Given the description of an element on the screen output the (x, y) to click on. 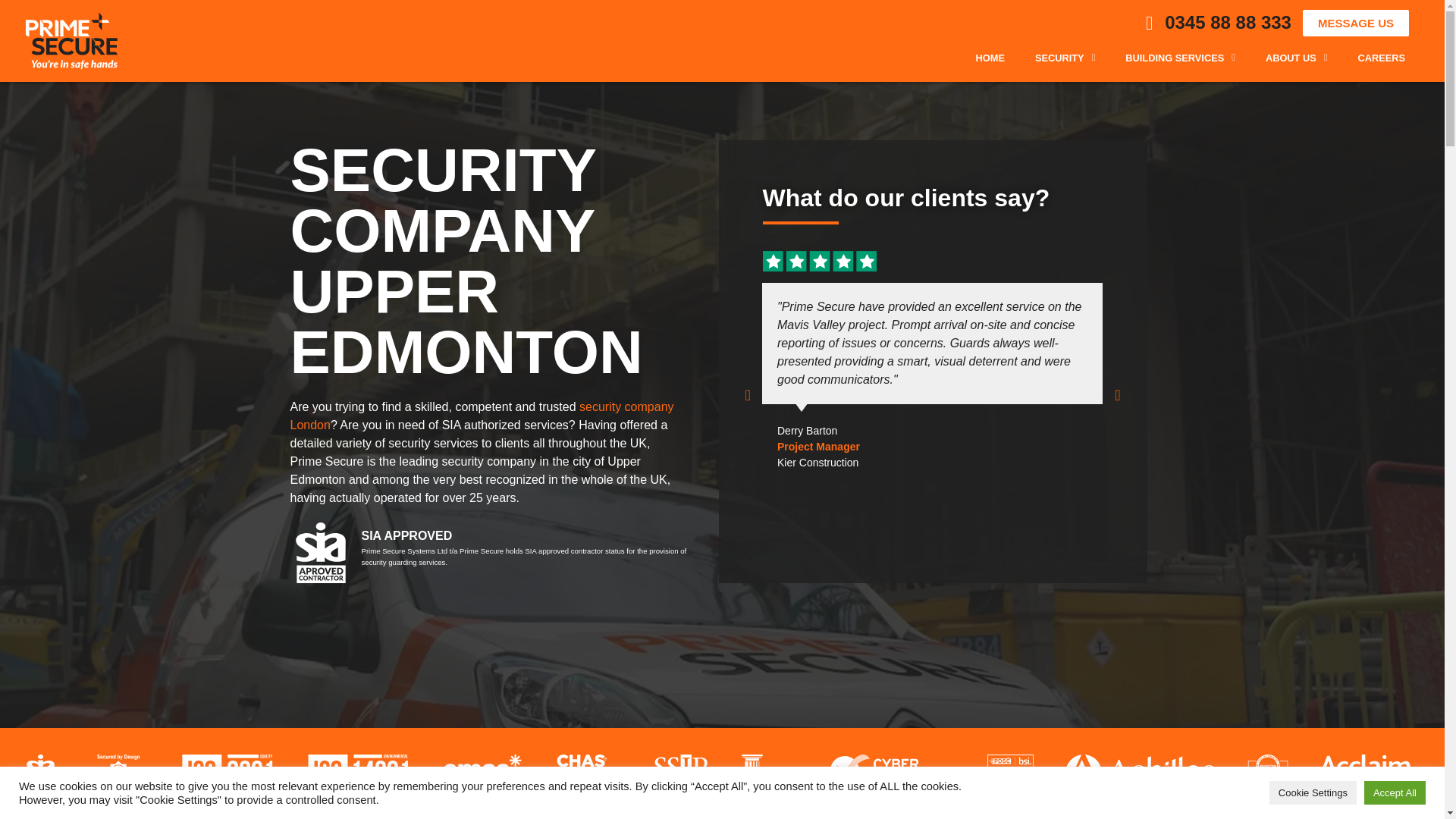
ABOUT US (1296, 58)
BUILDING SERVICES (1179, 58)
SECURITY (1064, 58)
MESSAGE US (1356, 22)
HOME (990, 58)
